Given the description of an element on the screen output the (x, y) to click on. 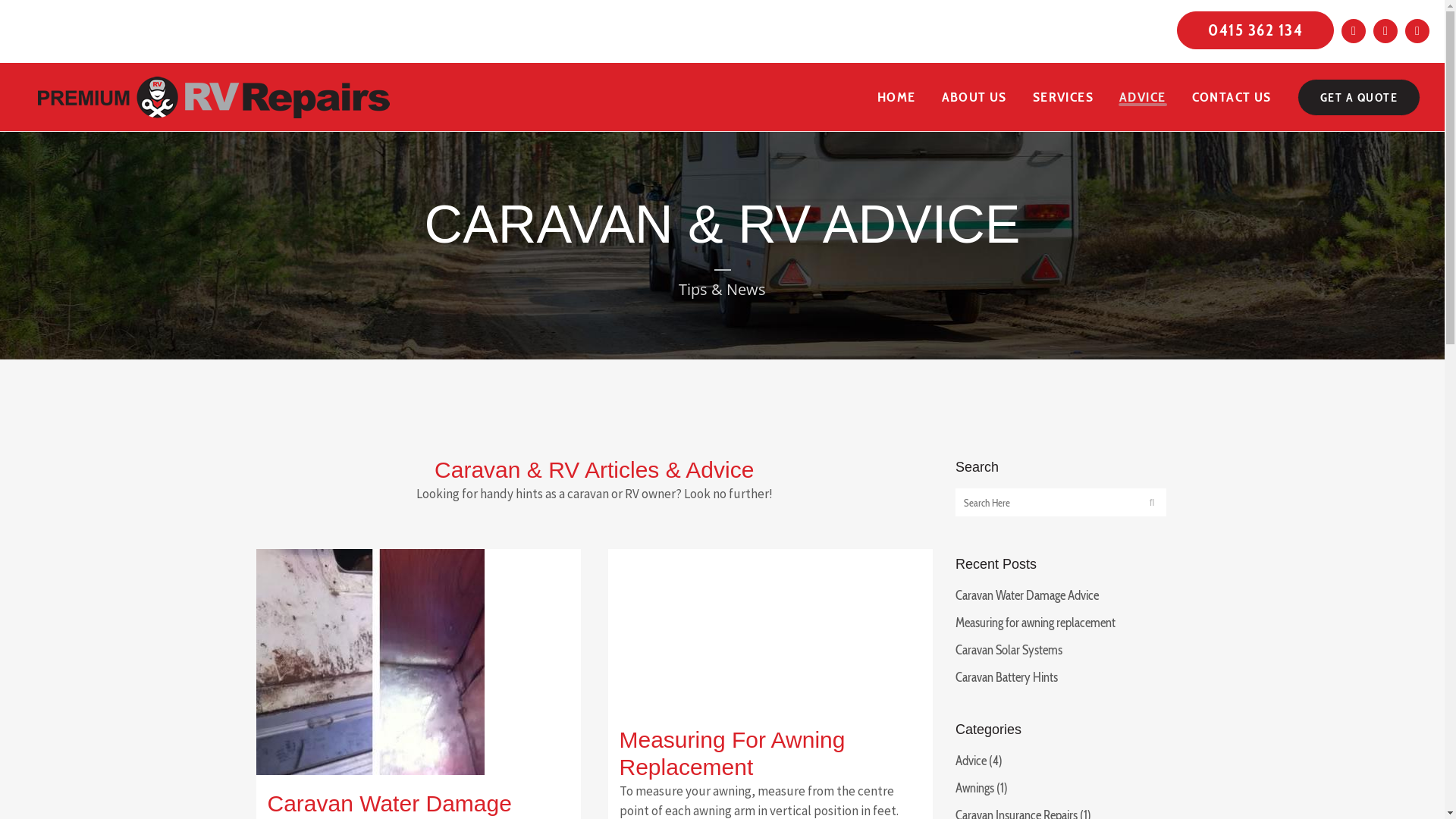
0415 362 134 Element type: text (662, 520)
ABOUT US Element type: text (973, 96)
Caravan Battery Hints Element type: text (1006, 676)
Measuring For Awning Replacement Element type: text (731, 753)
CARAVAN AWNINGS Element type: text (1028, 507)
WebCoast Element type: text (912, 798)
View Map Element type: text (654, 592)
SERVICES Element type: text (1062, 96)
CARAVAN SERVICING Element type: text (948, 537)
Caravan Solar Systems Element type: text (1008, 649)
hello@premiumrvrepairs.com.au Element type: text (707, 643)
GET A QUOTE Element type: text (1358, 97)
INSURANCE REPAIRS Element type: text (950, 497)
Caravan Water Damage Advice Element type: text (1026, 594)
Measuring for awning replacement Element type: text (1035, 622)
Advice Element type: text (970, 760)
MOBILE SERVICING Element type: text (1086, 517)
HOME Element type: text (896, 96)
RECLADDING Element type: text (990, 517)
Awnings Element type: text (974, 787)
0415 362 134 Element type: text (1254, 30)
PRIVACY POLICY Element type: text (1070, 596)
CONTACT US Element type: text (1230, 96)
ADVICE Element type: text (1142, 96)
